Given the description of an element on the screen output the (x, y) to click on. 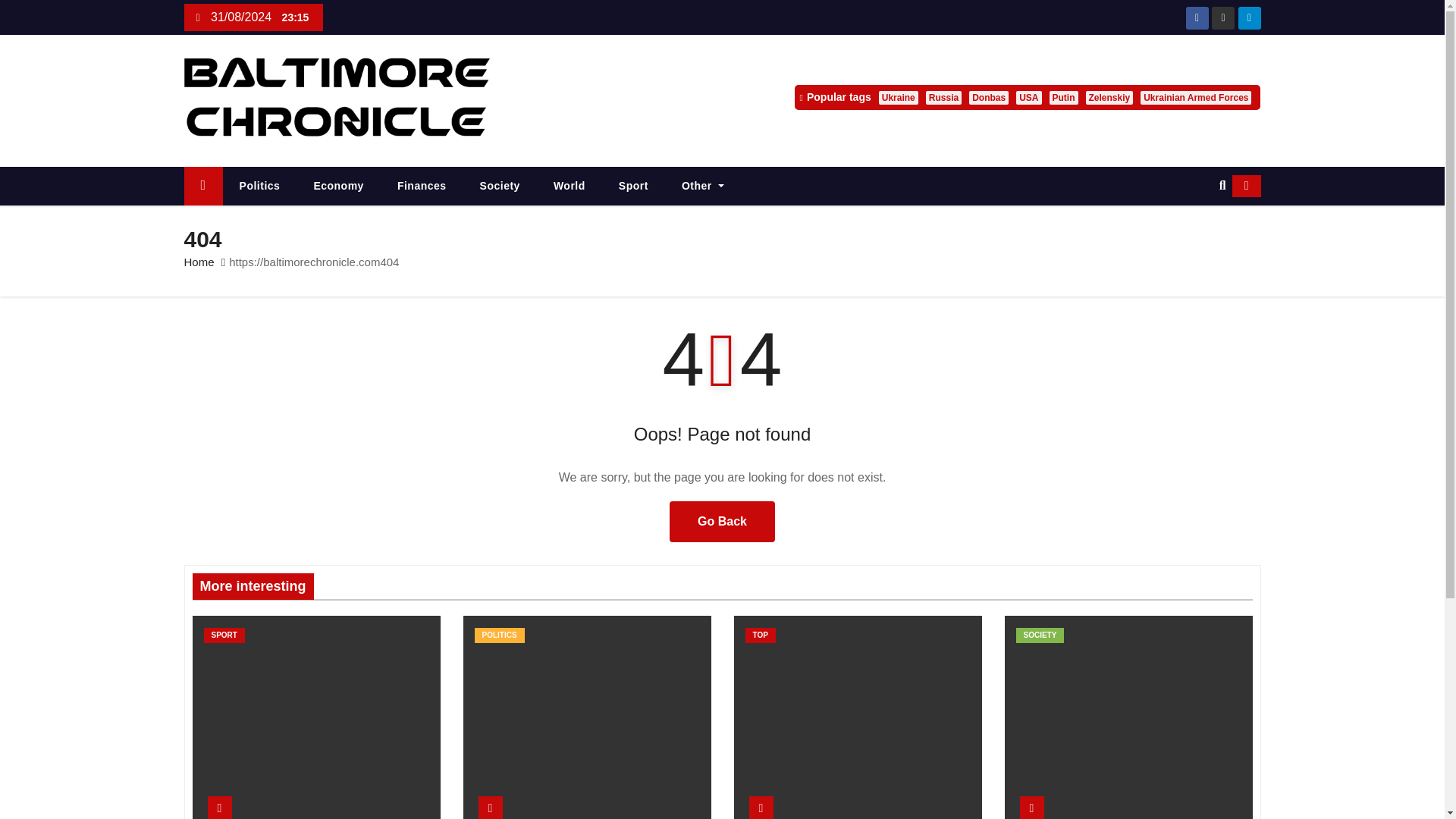
Economy (338, 186)
USA (1028, 97)
Ukrainian Armed Forces (1195, 97)
Sport (633, 186)
SPORT (223, 635)
Home (202, 186)
World (569, 186)
Sport (633, 186)
World (569, 186)
Donbas (989, 97)
